Given the description of an element on the screen output the (x, y) to click on. 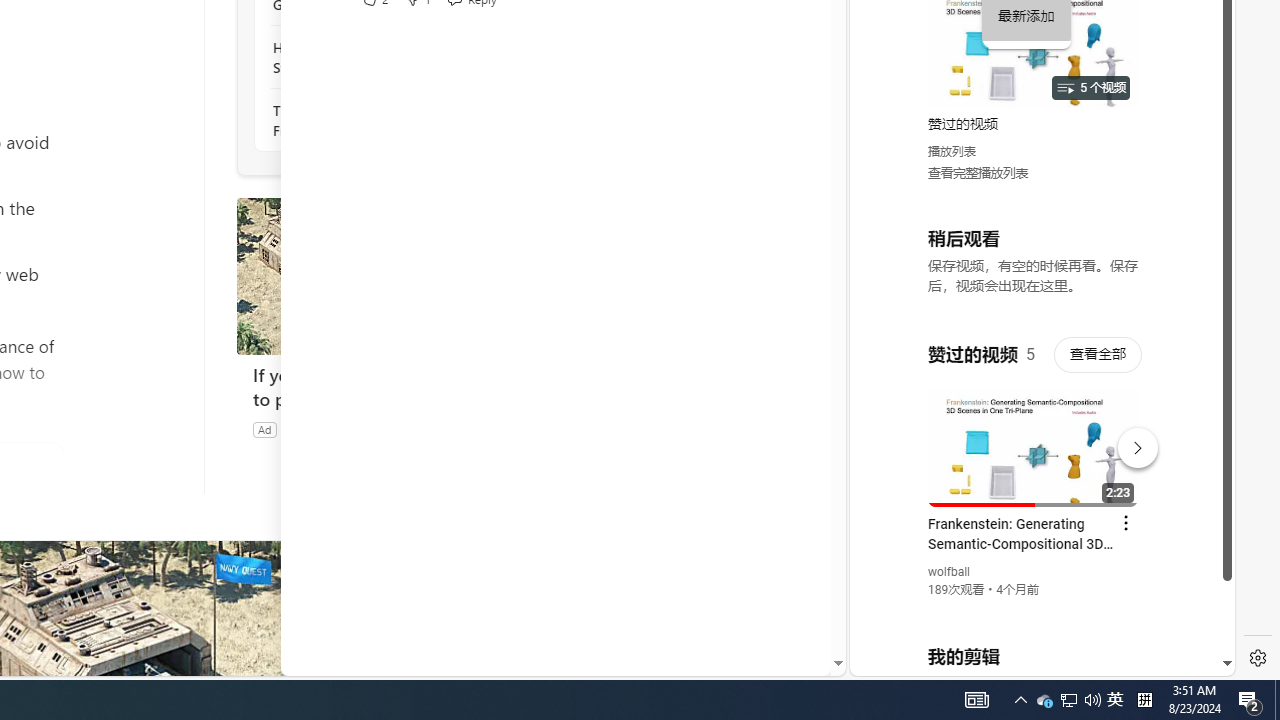
If you have a mouse, you have to play this game. (386, 276)
